Given the description of an element on the screen output the (x, y) to click on. 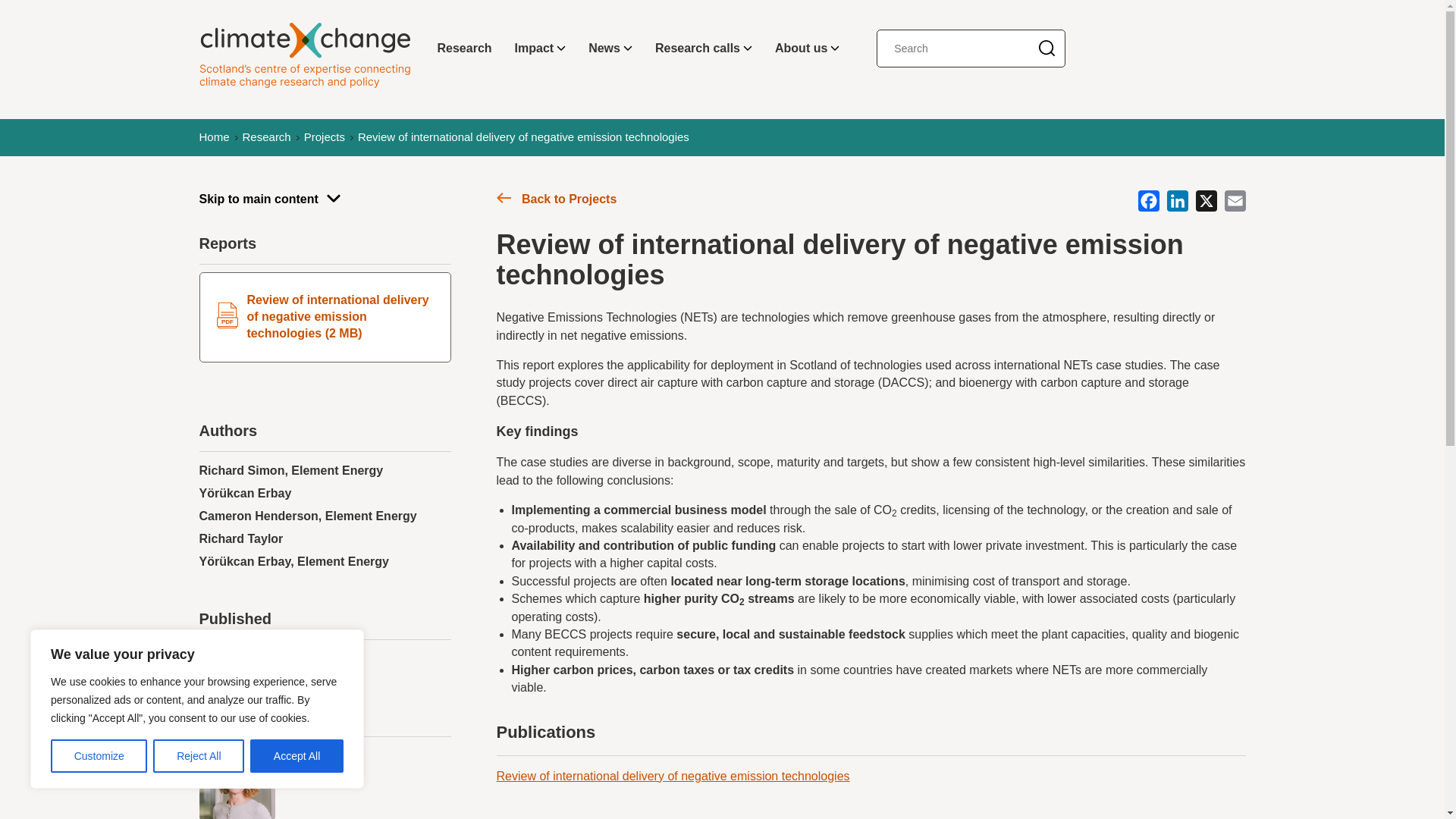
Accept All (296, 756)
Research (267, 137)
Research calls (702, 48)
News (609, 48)
About us (806, 48)
Projects (324, 137)
Customize (98, 756)
Reject All (198, 756)
Skip to main content (323, 199)
Research (464, 48)
Impact (540, 48)
